Given the description of an element on the screen output the (x, y) to click on. 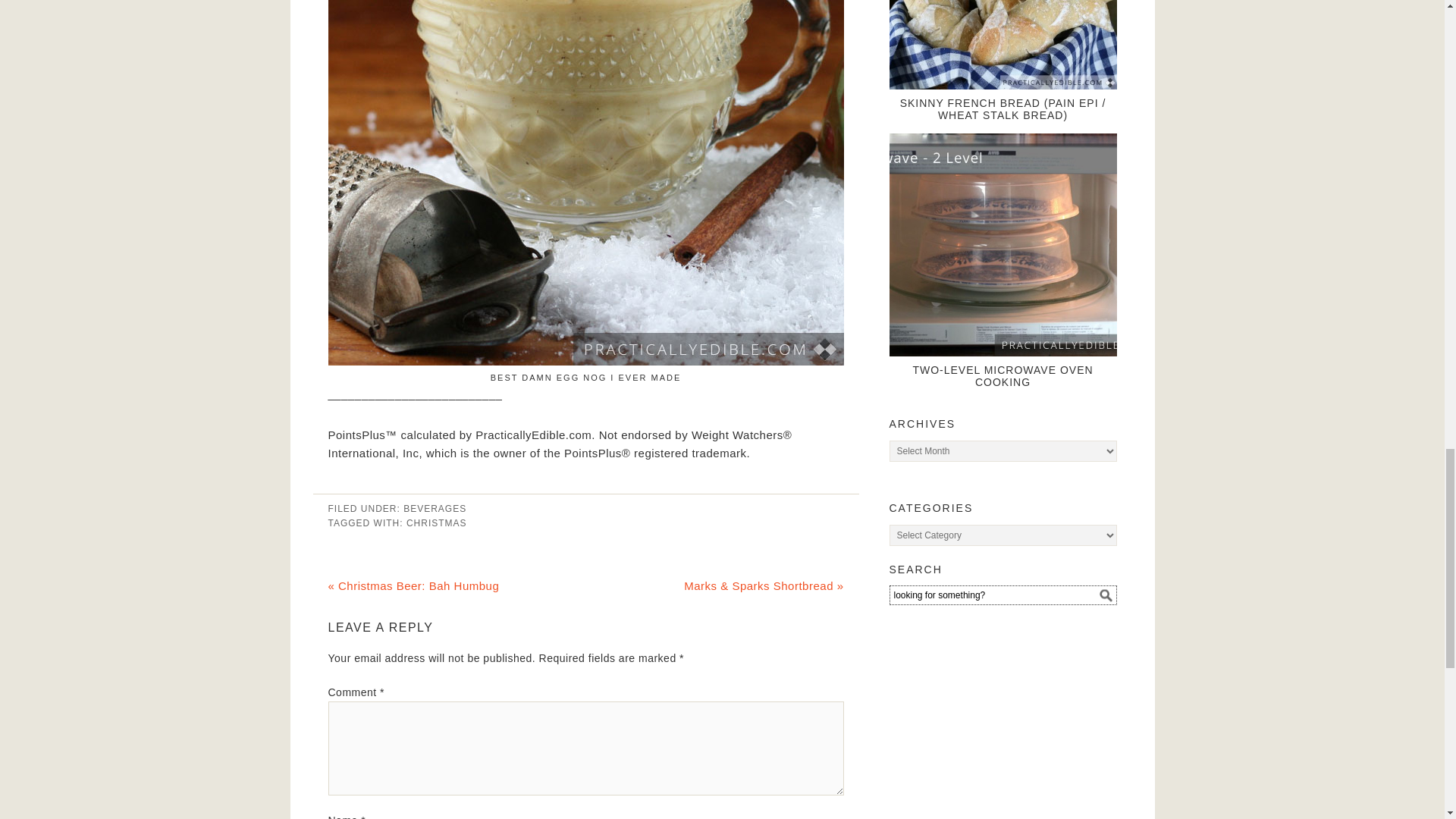
Two-level microwave oven cooking (1002, 244)
CHRISTMAS (436, 522)
TWO-LEVEL MICROWAVE OVEN COOKING (1002, 376)
BEVERAGES (434, 508)
Two-level microwave oven cooking (1002, 376)
